Given the description of an element on the screen output the (x, y) to click on. 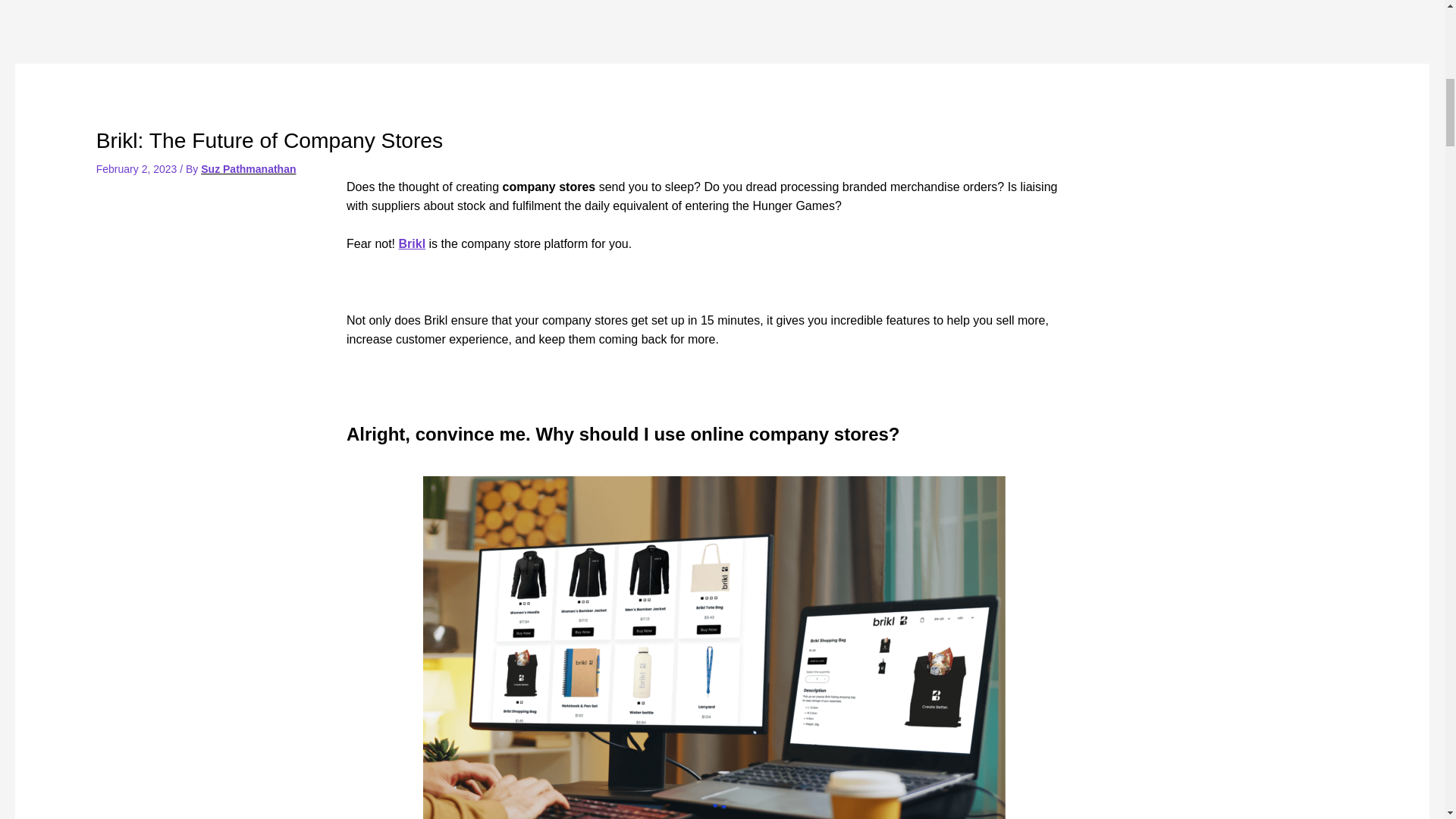
View all posts by Suz Pathmanathan (247, 168)
Suz Pathmanathan (247, 168)
Brikl (412, 243)
